Given the description of an element on the screen output the (x, y) to click on. 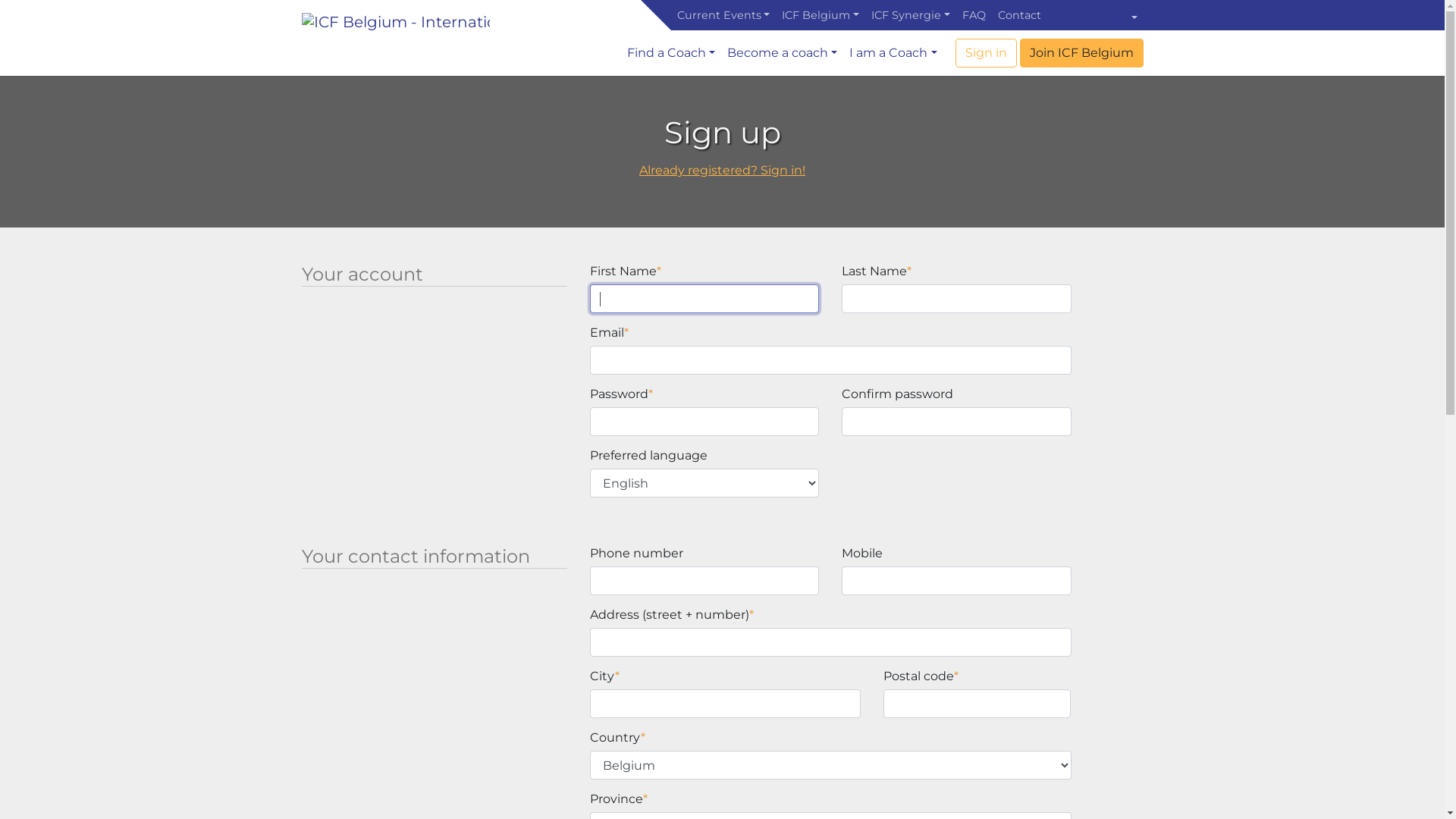
Current Events Element type: text (723, 15)
Join ICF Belgium Element type: text (1080, 52)
Already registered? Sign in! Element type: text (722, 169)
Contact Element type: text (1019, 15)
Find a Coach Element type: text (671, 52)
ICF Synergie Element type: text (910, 15)
Become a coach Element type: text (782, 52)
Sign in Element type: text (985, 52)
I am a Coach Element type: text (892, 52)
FAQ Element type: text (973, 15)
ICF Belgium Element type: text (820, 15)
